Given the description of an element on the screen output the (x, y) to click on. 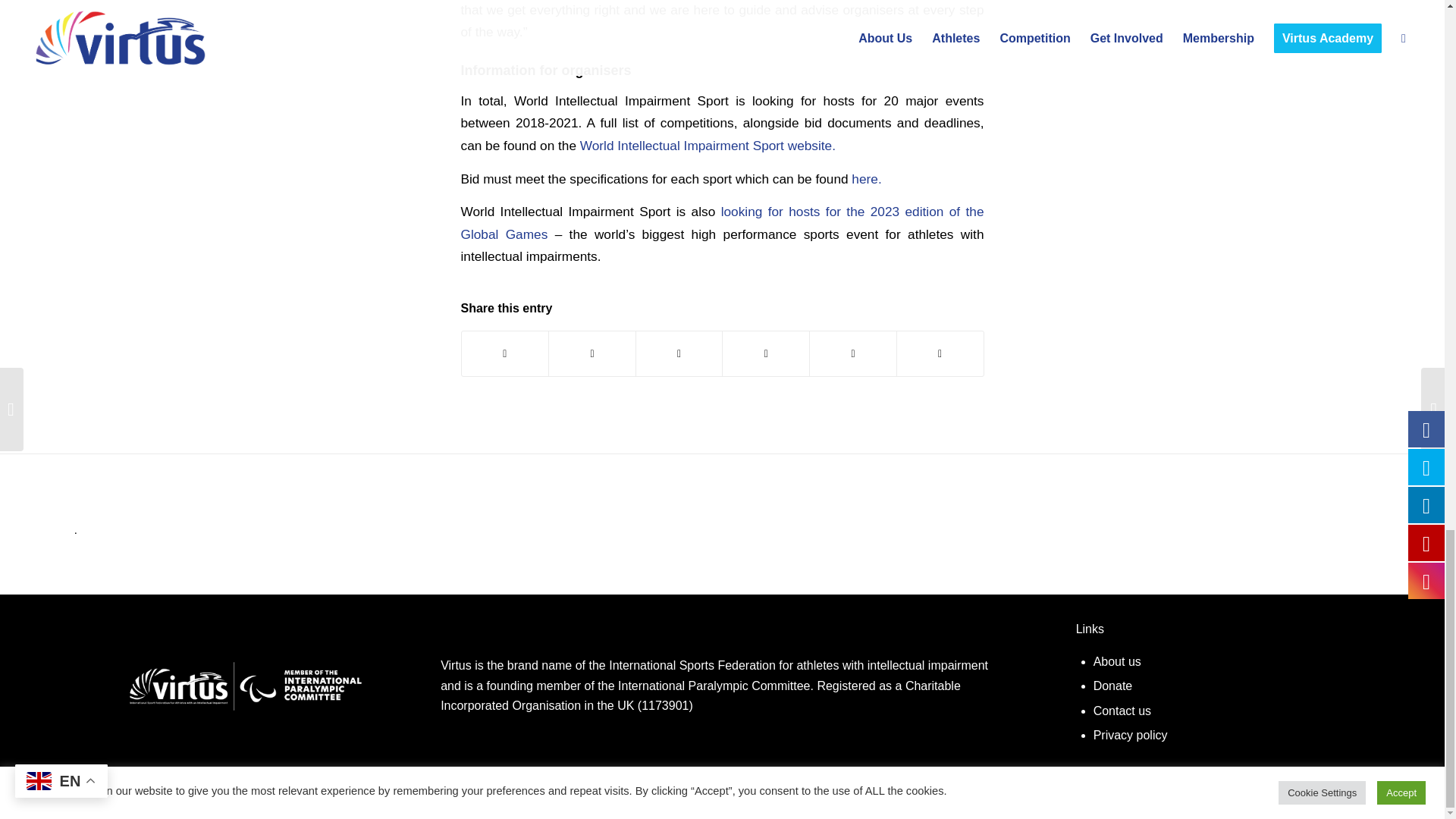
here. (865, 178)
looking for hosts for the 2023 edition of the Global Games (722, 221)
World Intellectual Impairment Sport website. (707, 145)
